Given the description of an element on the screen output the (x, y) to click on. 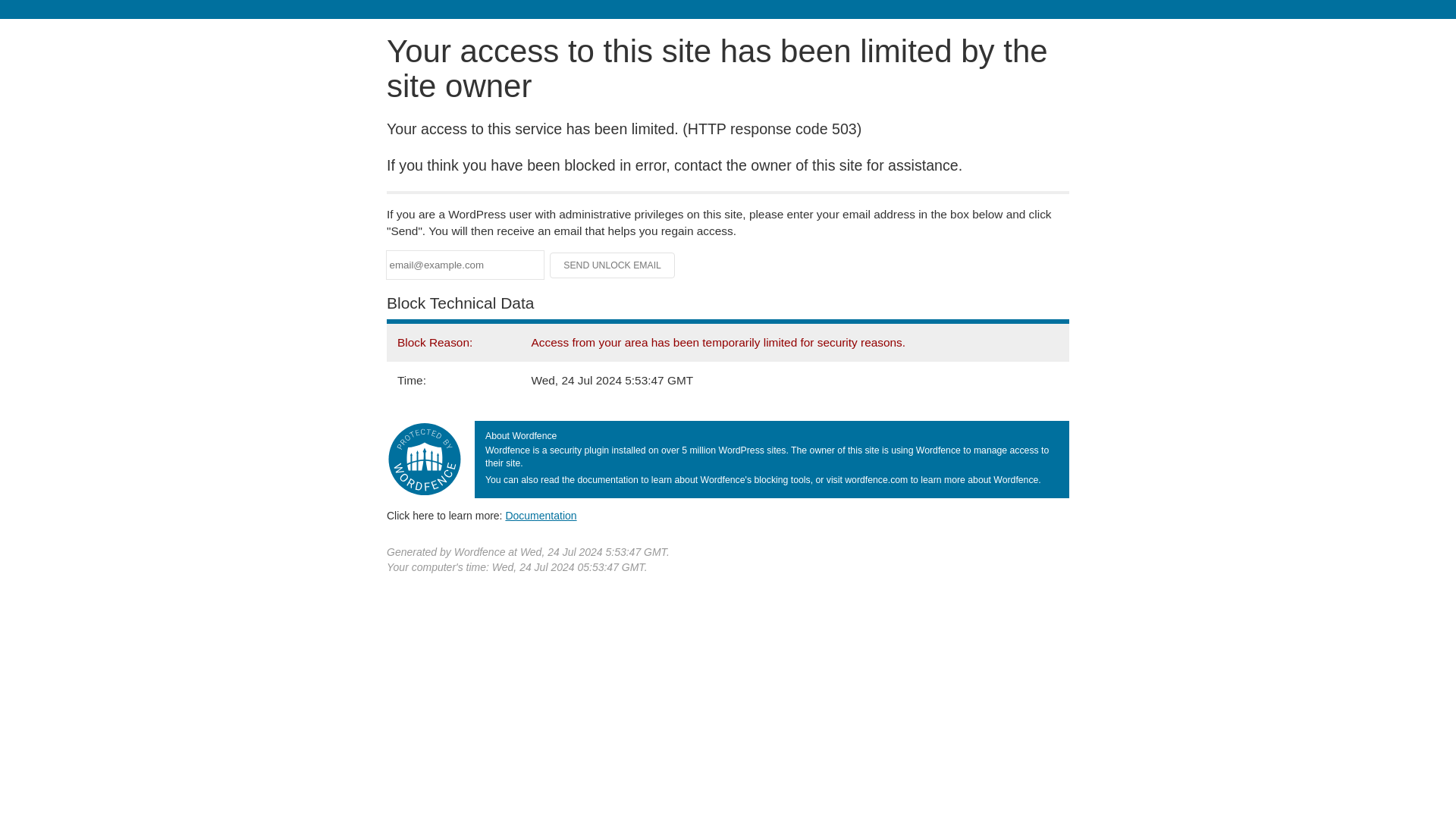
Send Unlock Email (612, 265)
Documentation (540, 515)
Send Unlock Email (612, 265)
